Given the description of an element on the screen output the (x, y) to click on. 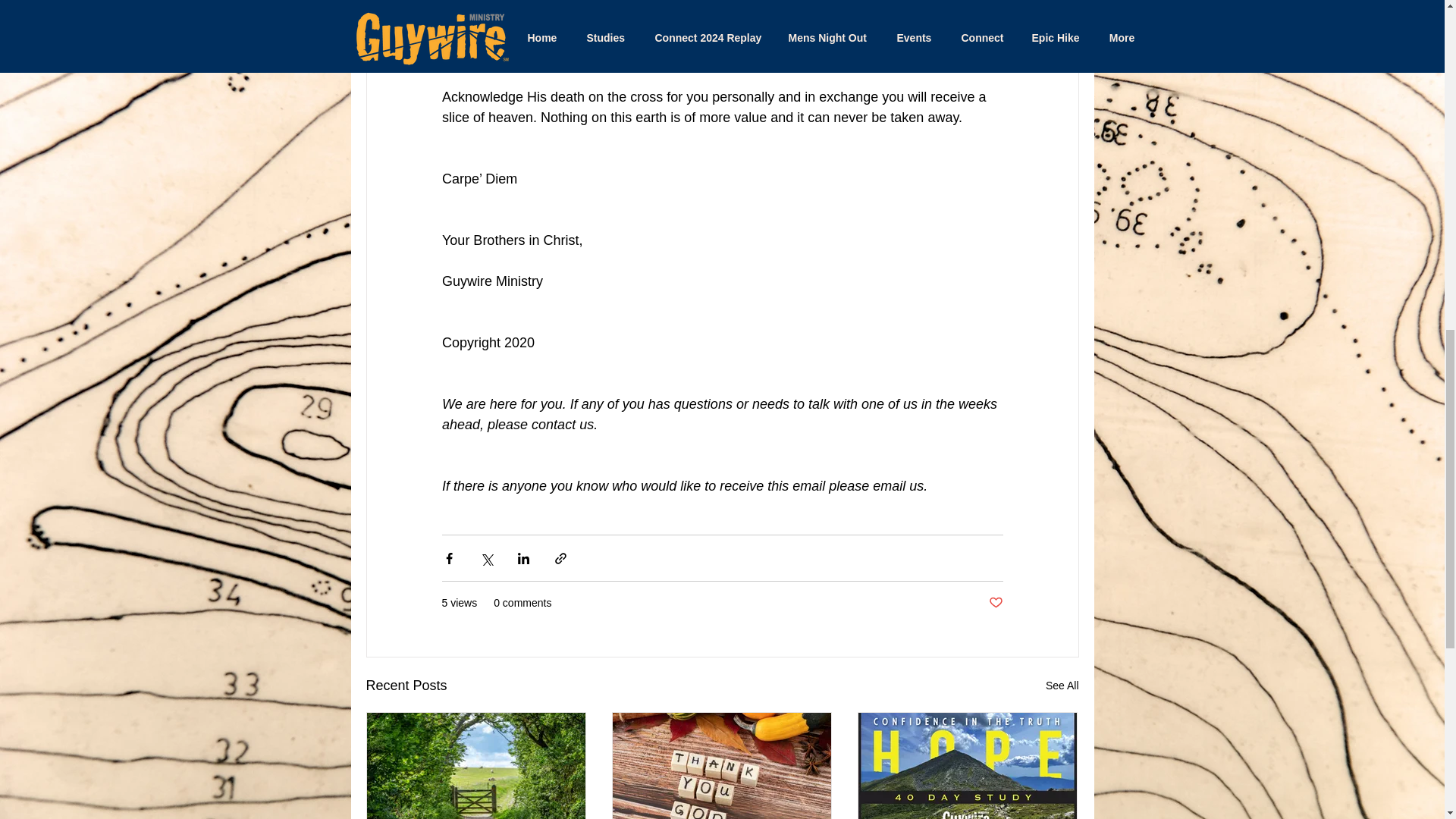
Post not marked as liked (995, 602)
See All (1061, 685)
